Given the description of an element on the screen output the (x, y) to click on. 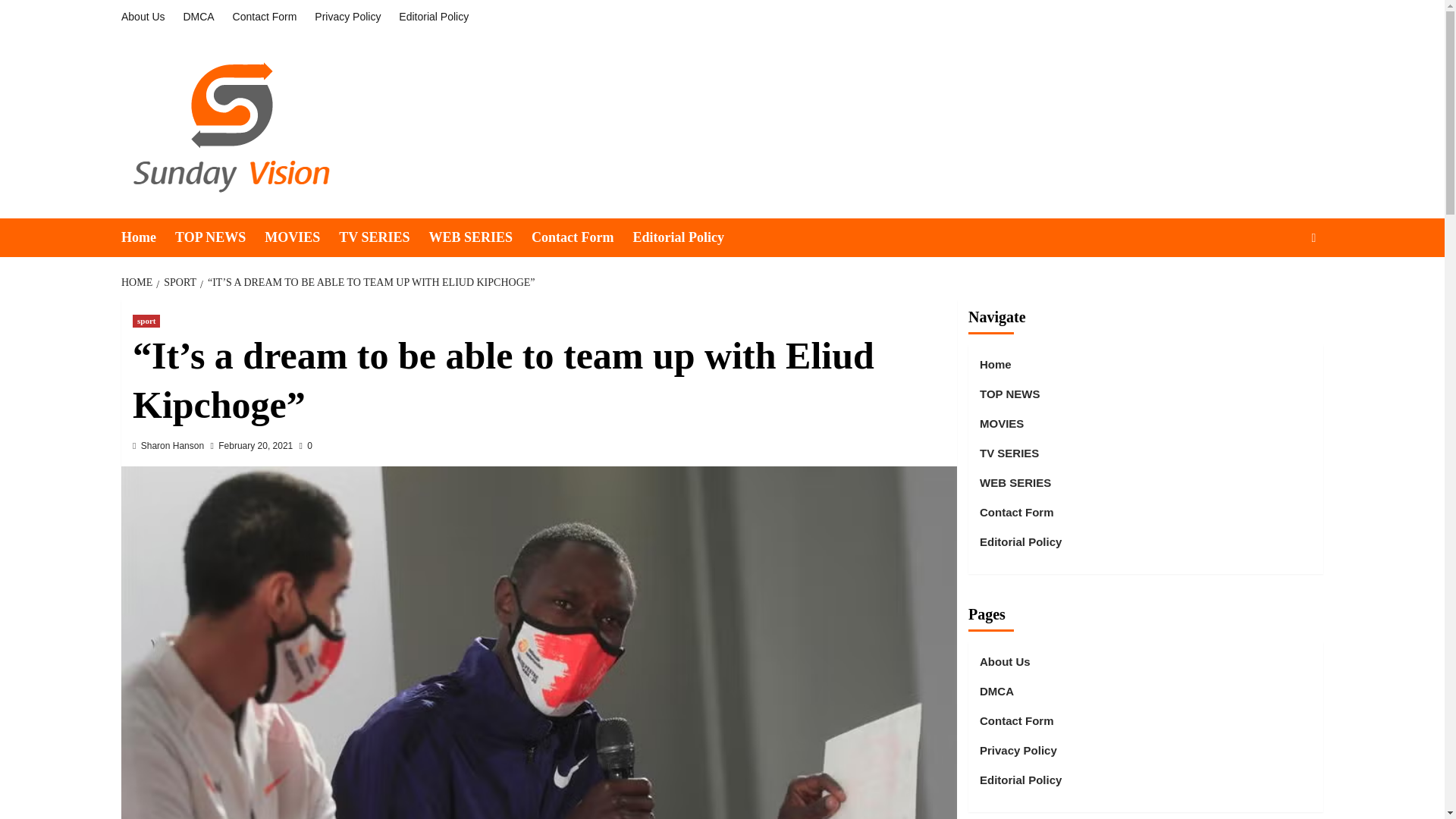
Sharon Hanson (172, 445)
Editorial Policy (433, 17)
Privacy Policy (347, 17)
HOME (137, 282)
sport (146, 320)
SPORT (177, 282)
WEB SERIES (479, 237)
DMCA (197, 17)
Home (147, 237)
0 (306, 445)
